Given the description of an element on the screen output the (x, y) to click on. 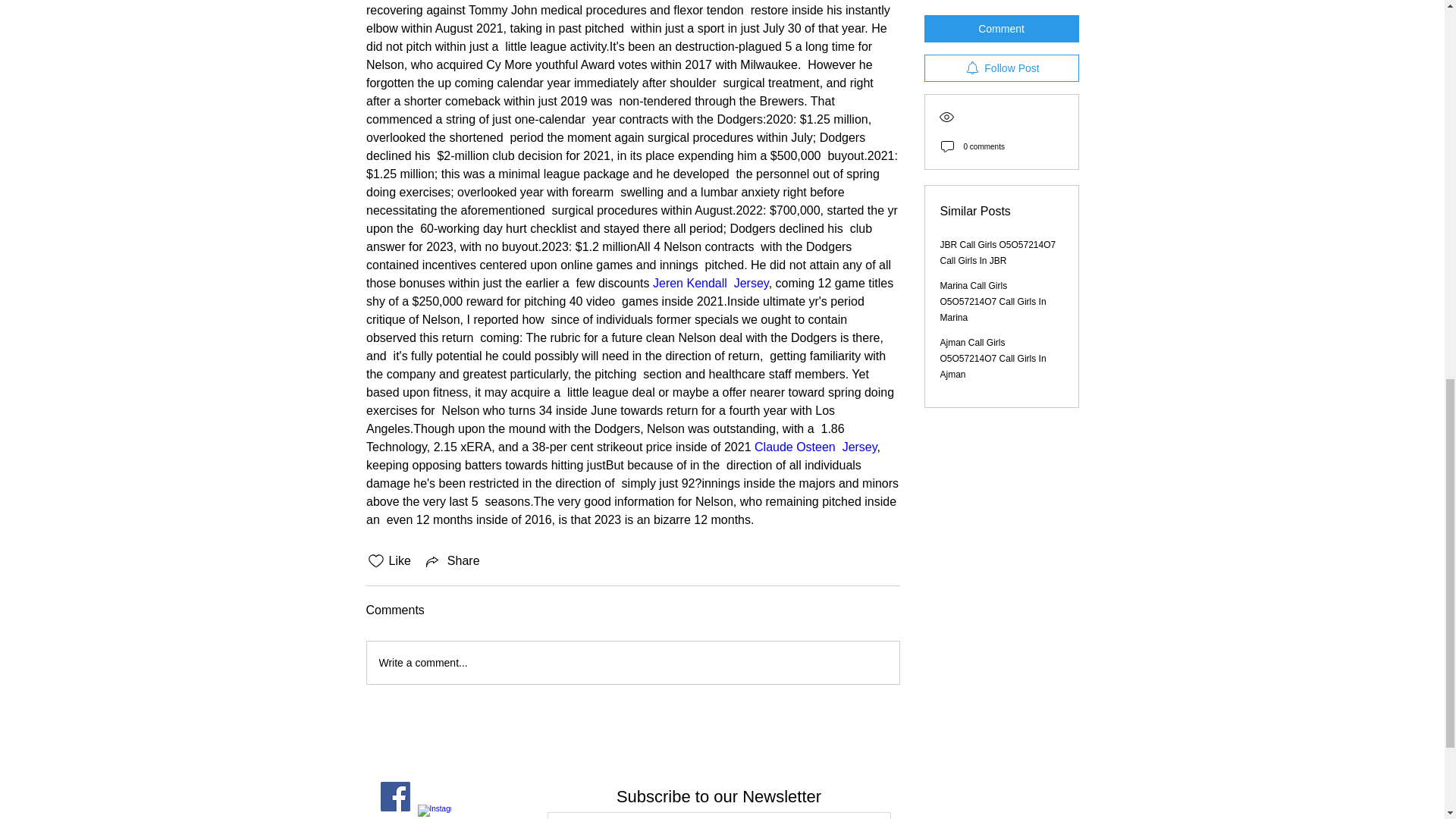
Jeren Kendall  Jersey (710, 282)
Write a comment... (632, 662)
Share (451, 561)
Claude Osteen  Jersey (815, 446)
